Given the description of an element on the screen output the (x, y) to click on. 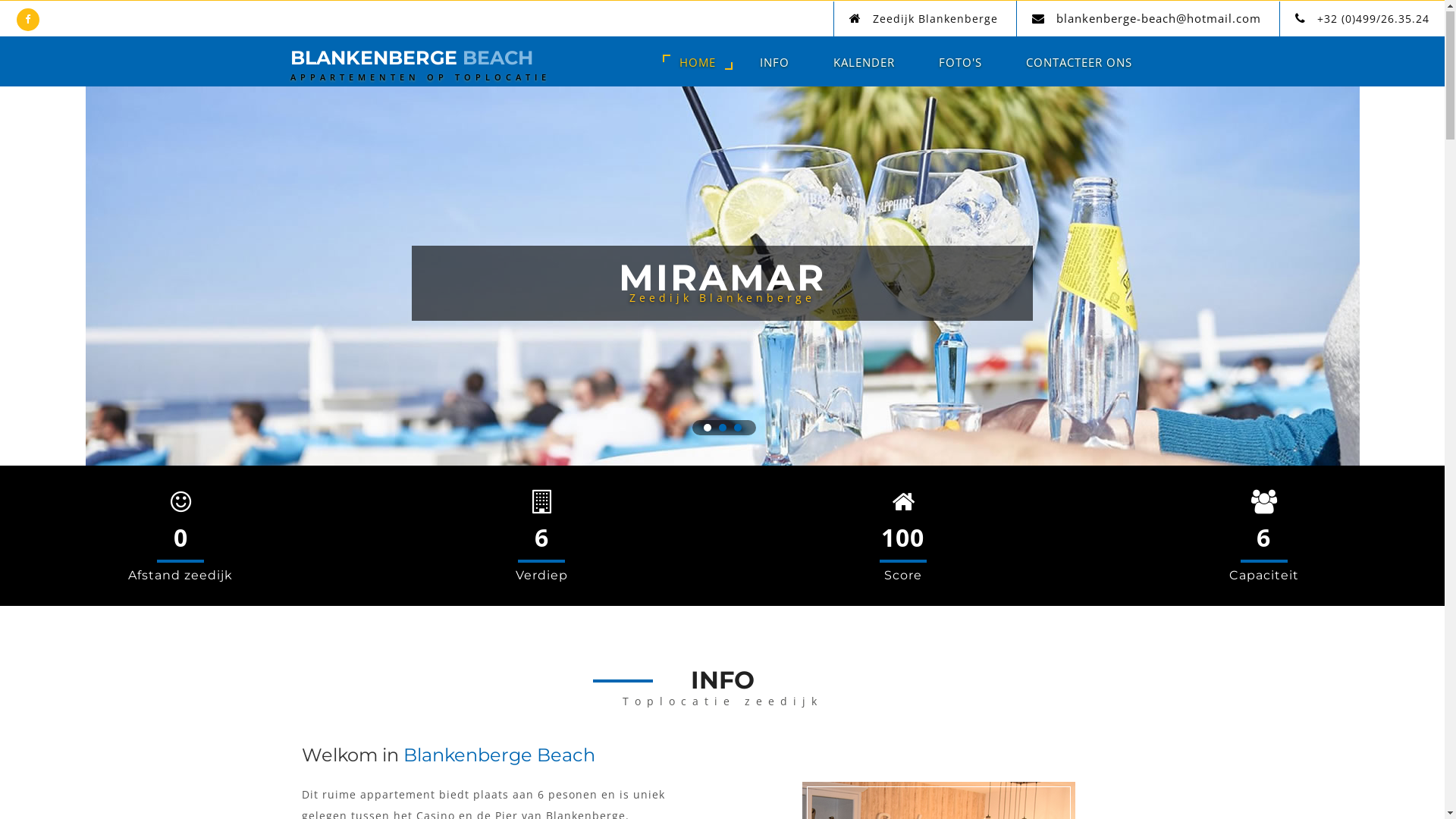
blankenberge-beach@hotmail.com Element type: text (1158, 18)
BLANKENBERGE BEACH
APPARTEMENTEN OP TOPLOCATIE Element type: text (419, 68)
HOME Element type: text (697, 62)
CONTACTEER ONS Element type: text (1078, 62)
INFO Element type: text (774, 62)
FOTO'S Element type: text (960, 62)
KALENDER Element type: text (863, 62)
